Given the description of an element on the screen output the (x, y) to click on. 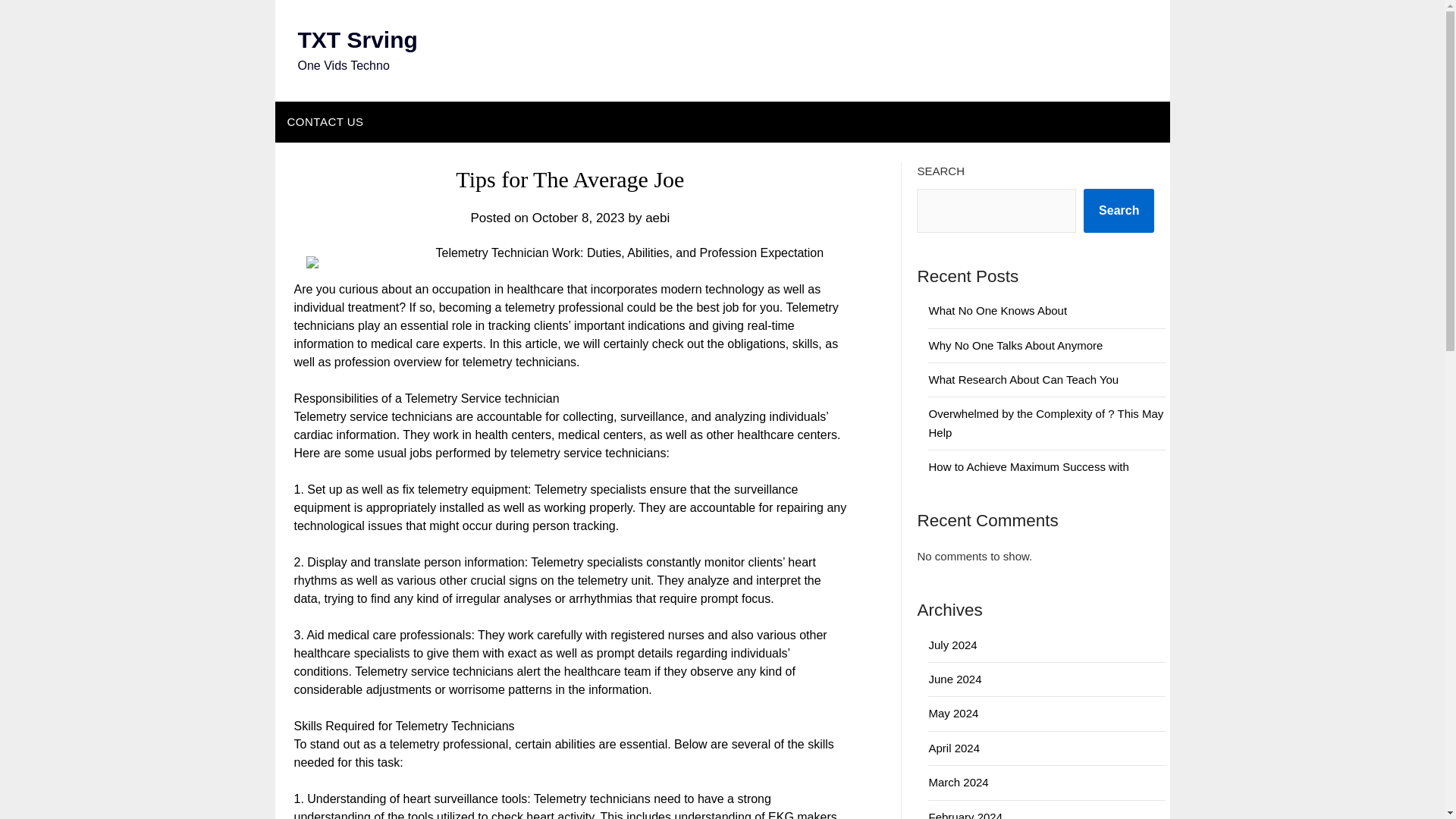
February 2024 (965, 814)
June 2024 (954, 678)
aebi (657, 217)
How to Achieve Maximum Success with (1028, 466)
May 2024 (953, 712)
Why No One Talks About Anymore (1015, 345)
What No One Knows About (997, 309)
TXT Srving (356, 39)
July 2024 (952, 644)
Search (1118, 210)
Overwhelmed by the Complexity of ? This May Help (1045, 422)
March 2024 (958, 781)
October 8, 2023 (578, 217)
What Research About Can Teach You (1023, 379)
April 2024 (953, 748)
